Given the description of an element on the screen output the (x, y) to click on. 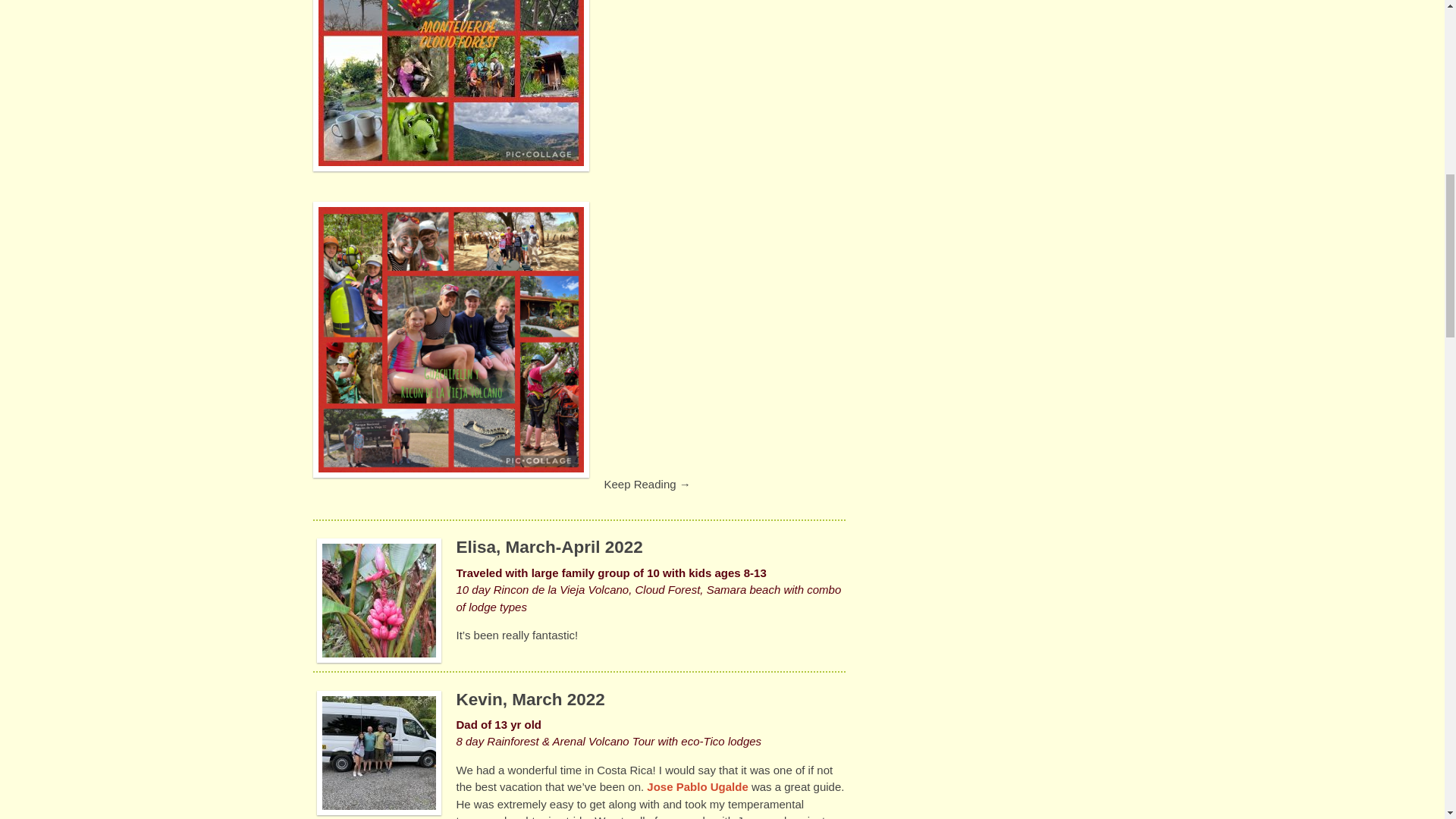
Jose Pablo Ugalde (697, 786)
Elisa, March-April 2022 (550, 546)
Elisa, March-April 2022 (550, 546)
Kevin, March 2022 (531, 699)
Kevin, March 2022 (531, 699)
